Given the description of an element on the screen output the (x, y) to click on. 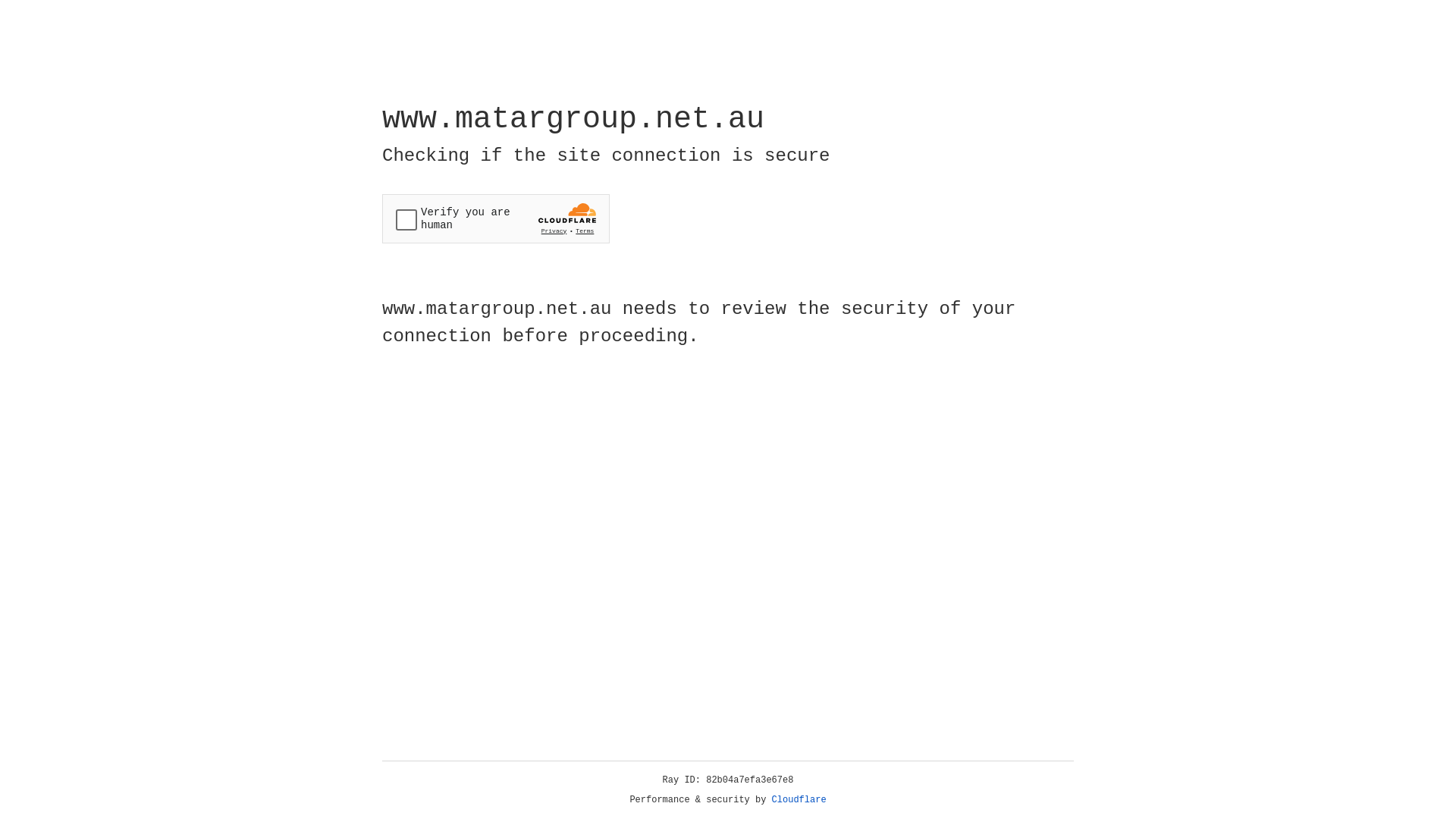
Cloudflare Element type: text (798, 799)
Widget containing a Cloudflare security challenge Element type: hover (495, 218)
